Given the description of an element on the screen output the (x, y) to click on. 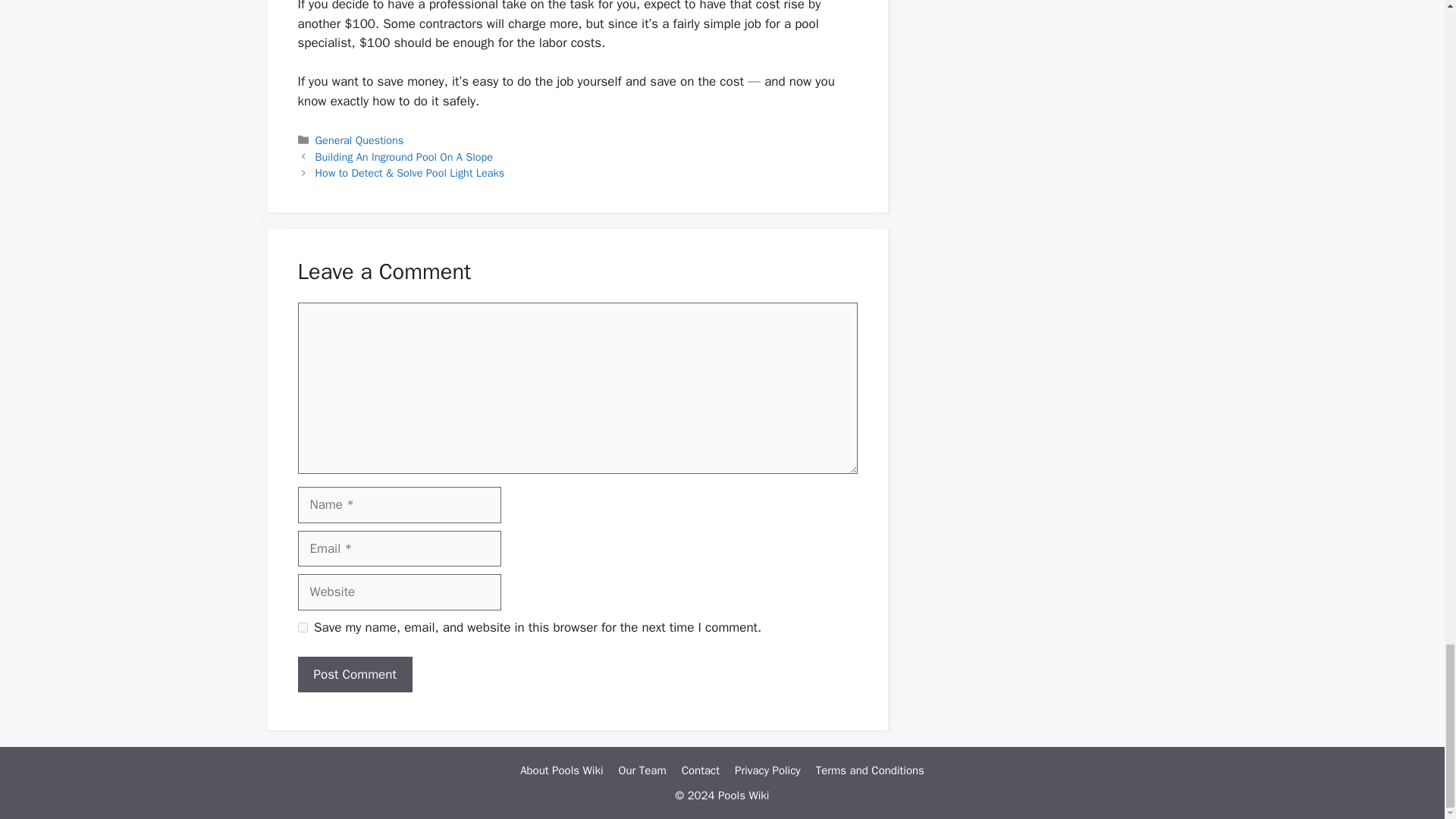
Our Team (642, 770)
General Questions (359, 140)
About Pools Wiki (560, 770)
Terms and Conditions (869, 770)
Contact (700, 770)
Post Comment (354, 674)
yes (302, 627)
Post Comment (354, 674)
Building An Inground Pool On A Slope (404, 156)
Privacy Policy (767, 770)
